Given the description of an element on the screen output the (x, y) to click on. 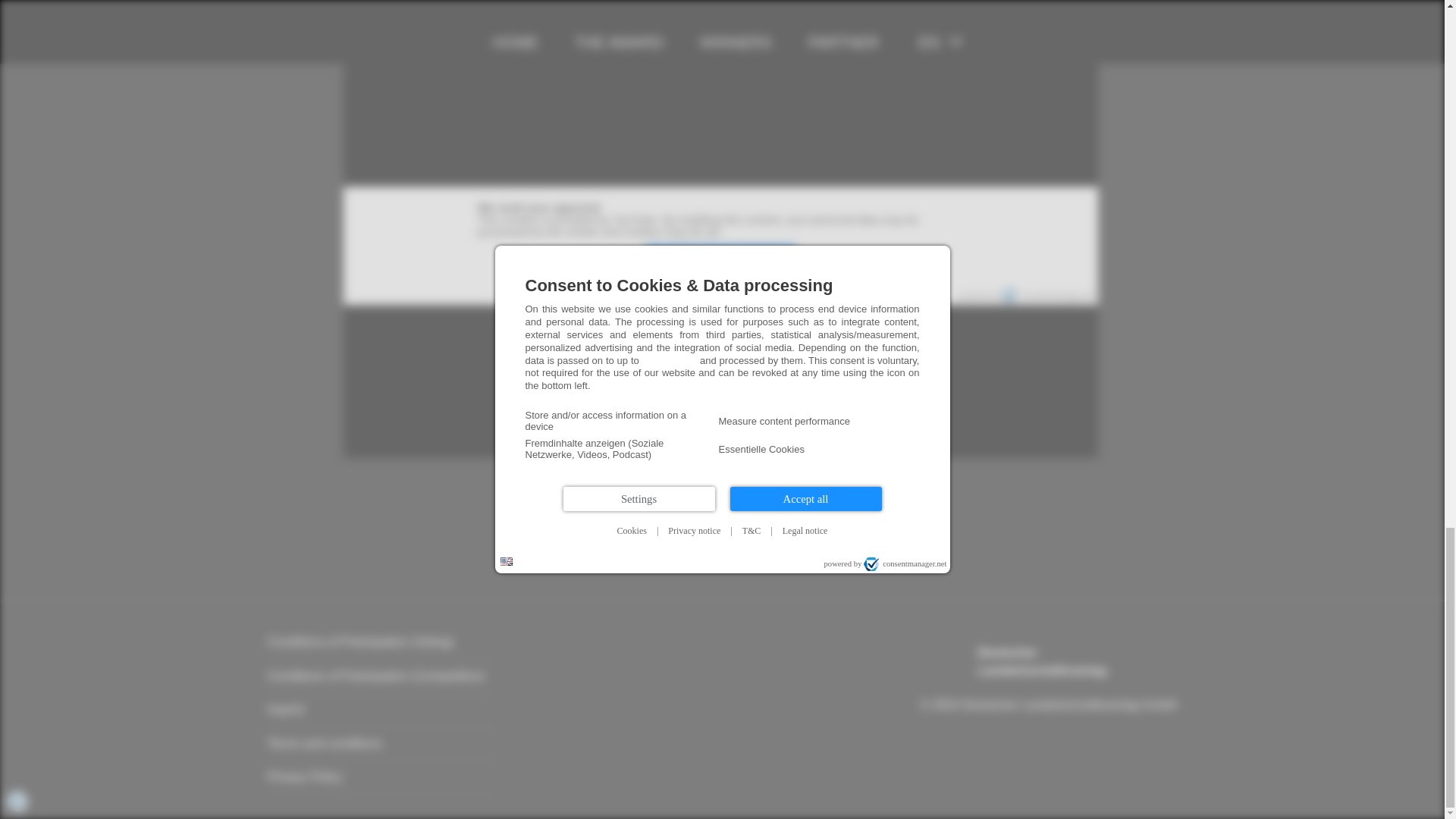
Terms and conditions (1041, 661)
Accept (323, 743)
consentmanager.net (720, 258)
s30 (1048, 295)
Privacy Policy (661, 284)
Imprint (304, 776)
